Given the description of an element on the screen output the (x, y) to click on. 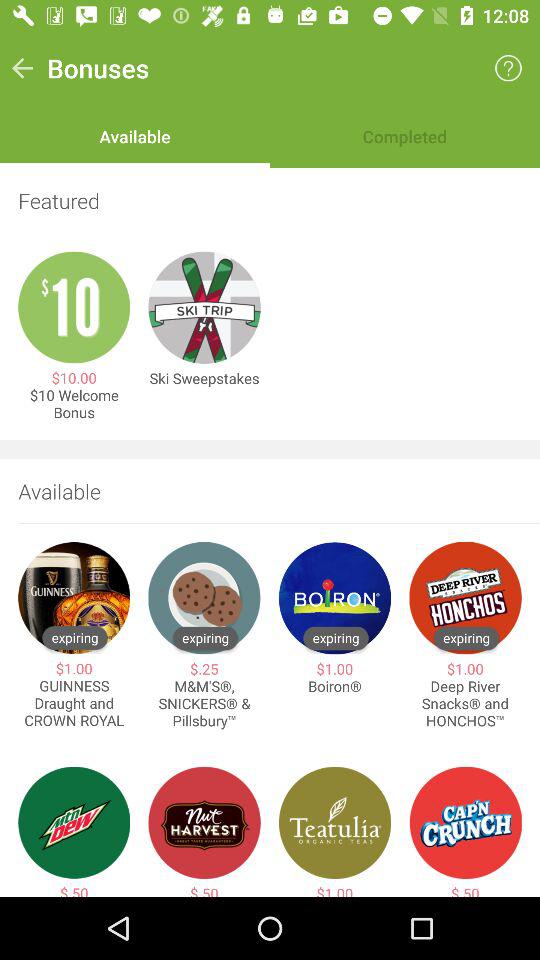
turn off the item below the available (270, 200)
